Given the description of an element on the screen output the (x, y) to click on. 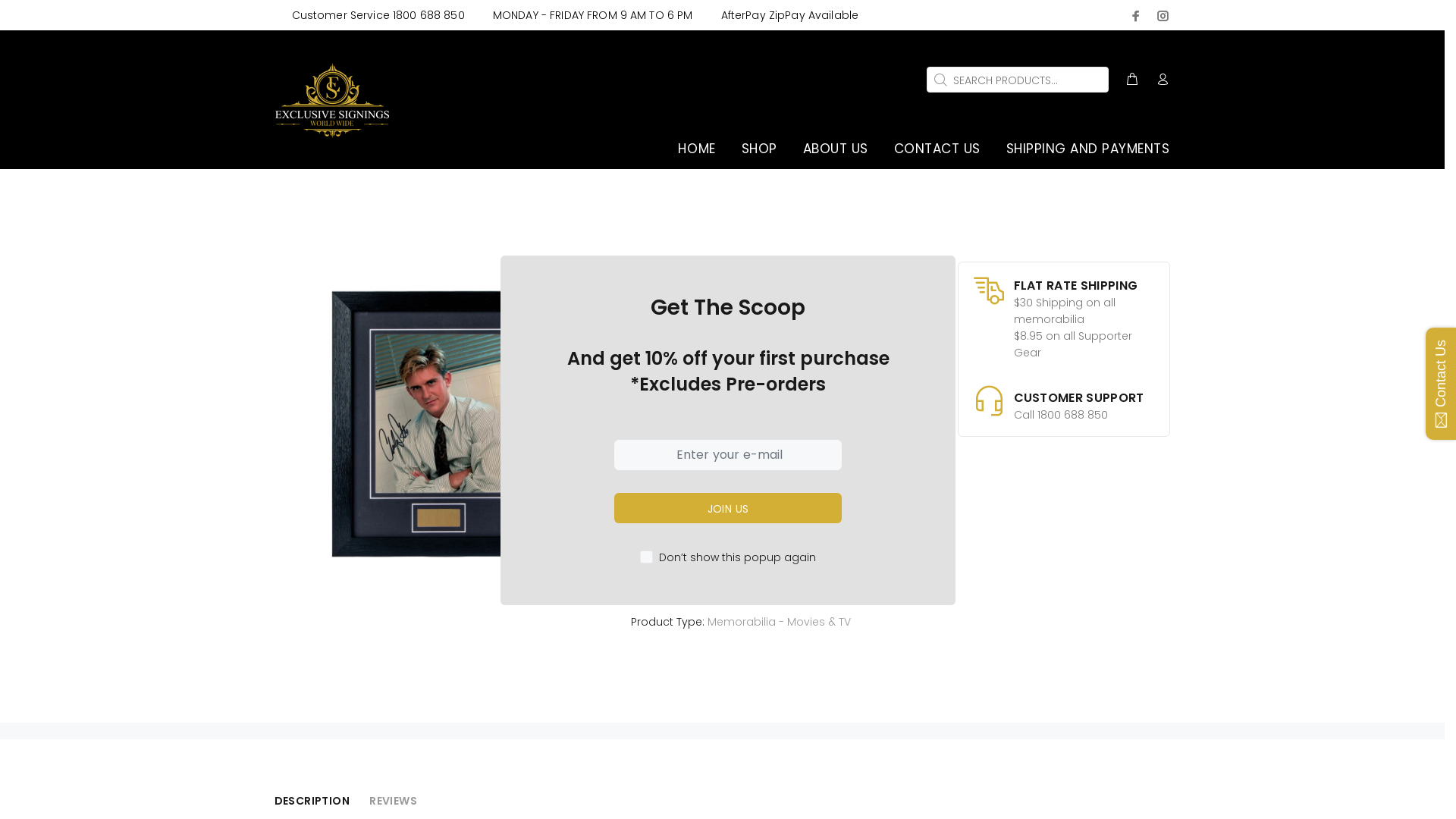
REVIEWS Element type: text (392, 800)
HOME Element type: text (698, 148)
JOIN US Element type: text (727, 507)
SHIPPING AND PAYMENTS Element type: text (1081, 148)
ADD TO WISHLIST Element type: text (682, 558)
ADD TO CART Element type: text (837, 457)
DESCRIPTION Element type: text (311, 800)
CONTACT US Element type: text (937, 148)
SHOP Element type: text (759, 148)
CUSTOMER SUPPORT
Call 1800 688 850 Element type: text (1063, 397)
Memorabilia Element type: text (708, 600)
ABOUT US Element type: text (835, 148)
Memorabilia - Movies & TV Element type: text (778, 621)
